Given the description of an element on the screen output the (x, y) to click on. 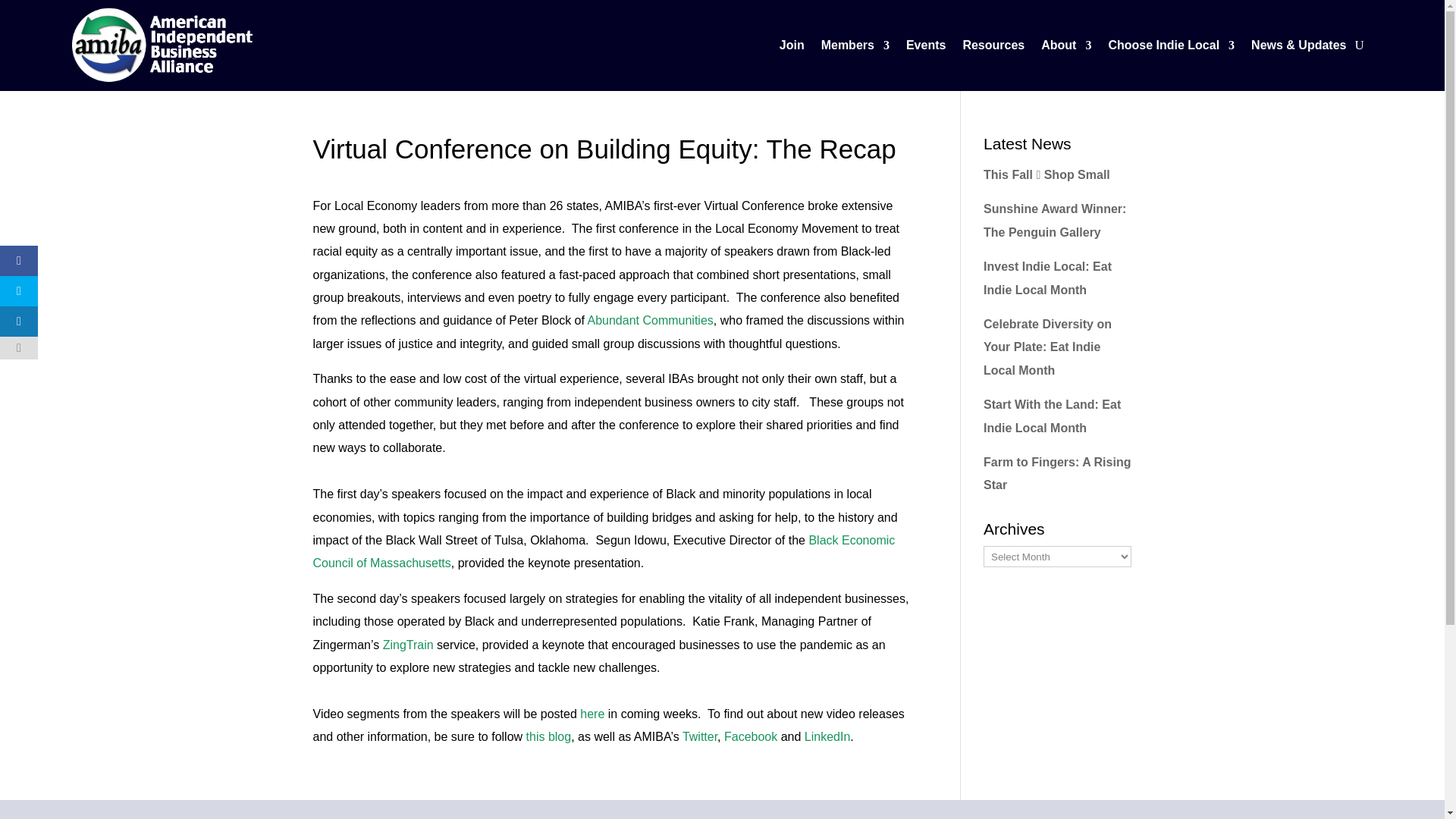
About (1065, 48)
Join (791, 48)
here (593, 713)
Twitter (699, 736)
this blog (548, 736)
Events (924, 48)
Black Economic Council of Massachusetts (604, 551)
Members (855, 48)
ZingTrain (407, 644)
amiba-new-logo-white (161, 45)
